Given the description of an element on the screen output the (x, y) to click on. 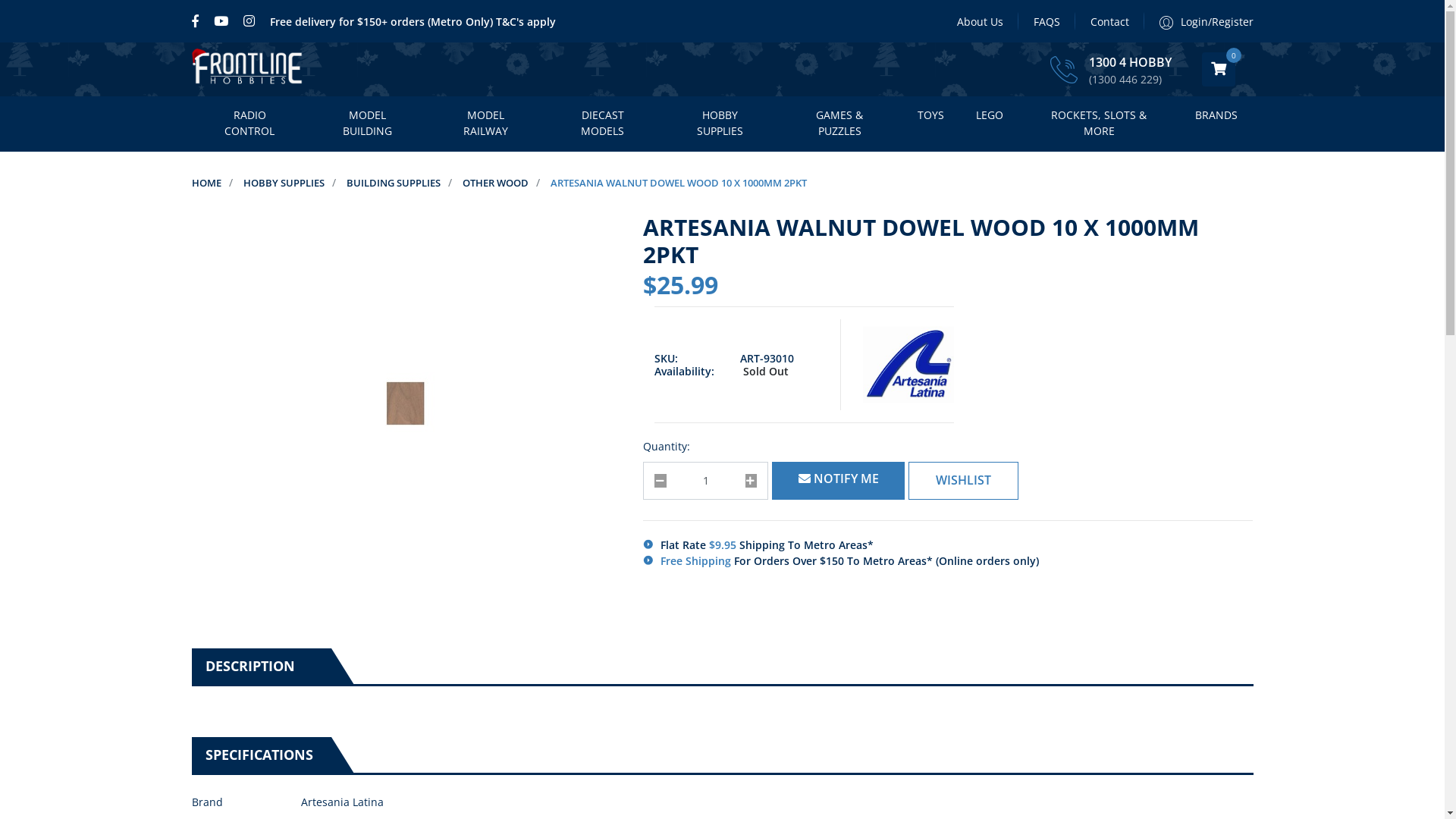
GAMES & PUZZLES Element type: text (839, 123)
FAQS Element type: text (1045, 21)
WISHLIST Element type: text (963, 480)
Contact Element type: text (1109, 21)
LEGO Element type: text (989, 115)
Free delivery for $150+ orders (Metro Only) T&C's apply Element type: text (412, 21)
BUILDING SUPPLIES Element type: text (392, 182)
RADIO CONTROL Element type: text (249, 123)
About Us Element type: text (979, 21)
MODEL RAILWAY Element type: text (484, 123)
Frontline Hobbies on Youtube Element type: hover (220, 21)
1300 4 HOBBY Element type: text (1129, 62)
OTHER WOOD Element type: text (495, 182)
Login/Register Element type: text (1197, 21)
NOTIFY ME Element type: text (837, 480)
ROCKETS, SLOTS & MORE Element type: text (1099, 123)
ARTESANIA WALNUT DOWEL WOOD 10 X 1000MM 2PKT Element type: text (678, 182)
HOME Element type: text (205, 182)
TOYS Element type: text (930, 115)
Artesania Latina Element type: hover (907, 364)
HOBBY SUPPLIES Element type: text (282, 182)
DIECAST MODELS Element type: text (602, 123)
HOBBY SUPPLIES Element type: text (719, 123)
Frontline Hobbies Element type: hover (247, 69)
0 Element type: text (1217, 69)
Frontline Hobbies on Instagram Element type: hover (248, 21)
podium webchat widget prompt Element type: hover (1315, 644)
BRANDS Element type: text (1216, 115)
MODEL BUILDING Element type: text (367, 123)
Frontline Hobbies on Facebook Element type: hover (198, 21)
